Given the description of an element on the screen output the (x, y) to click on. 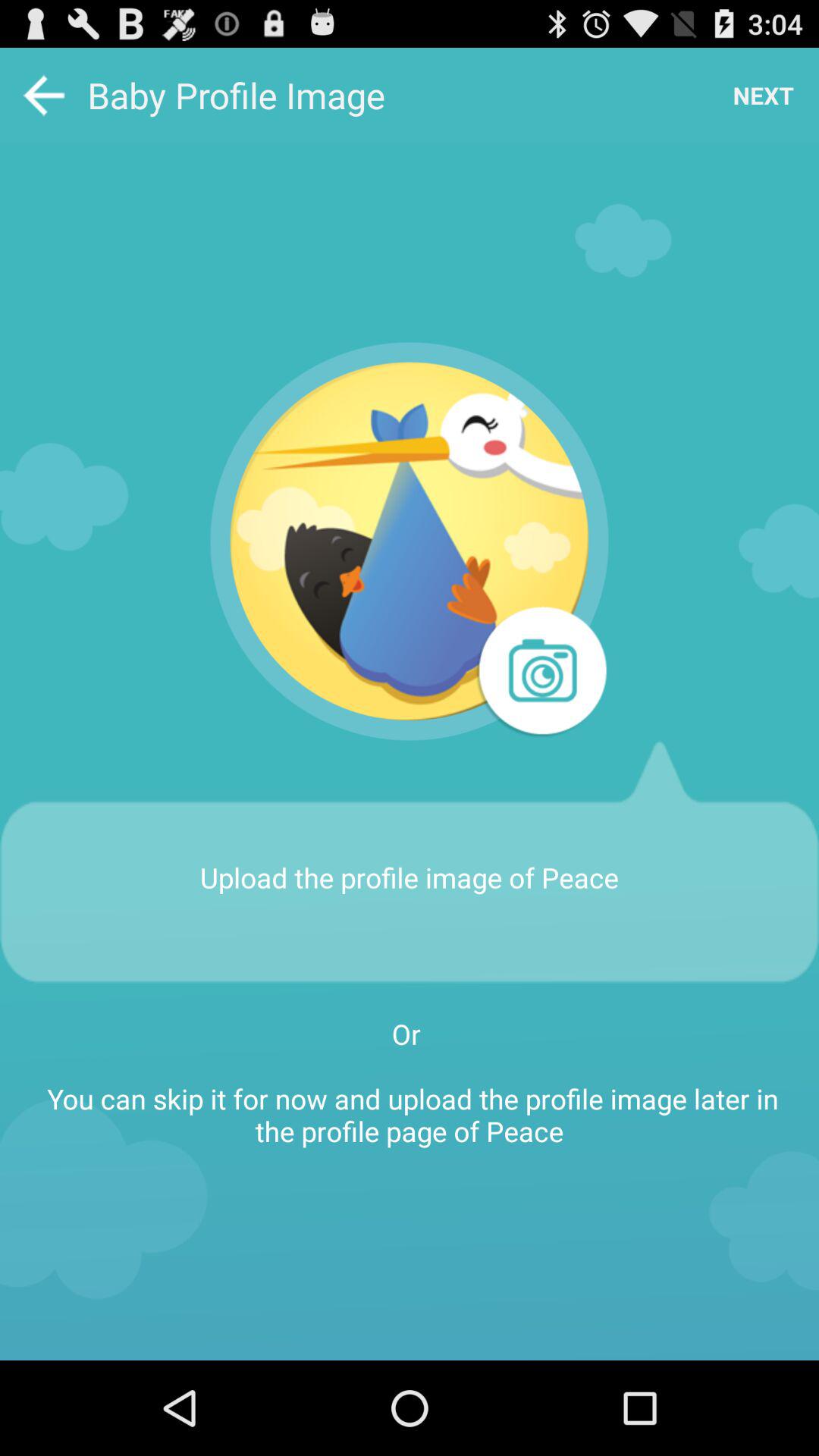
add profile picture (409, 541)
